Given the description of an element on the screen output the (x, y) to click on. 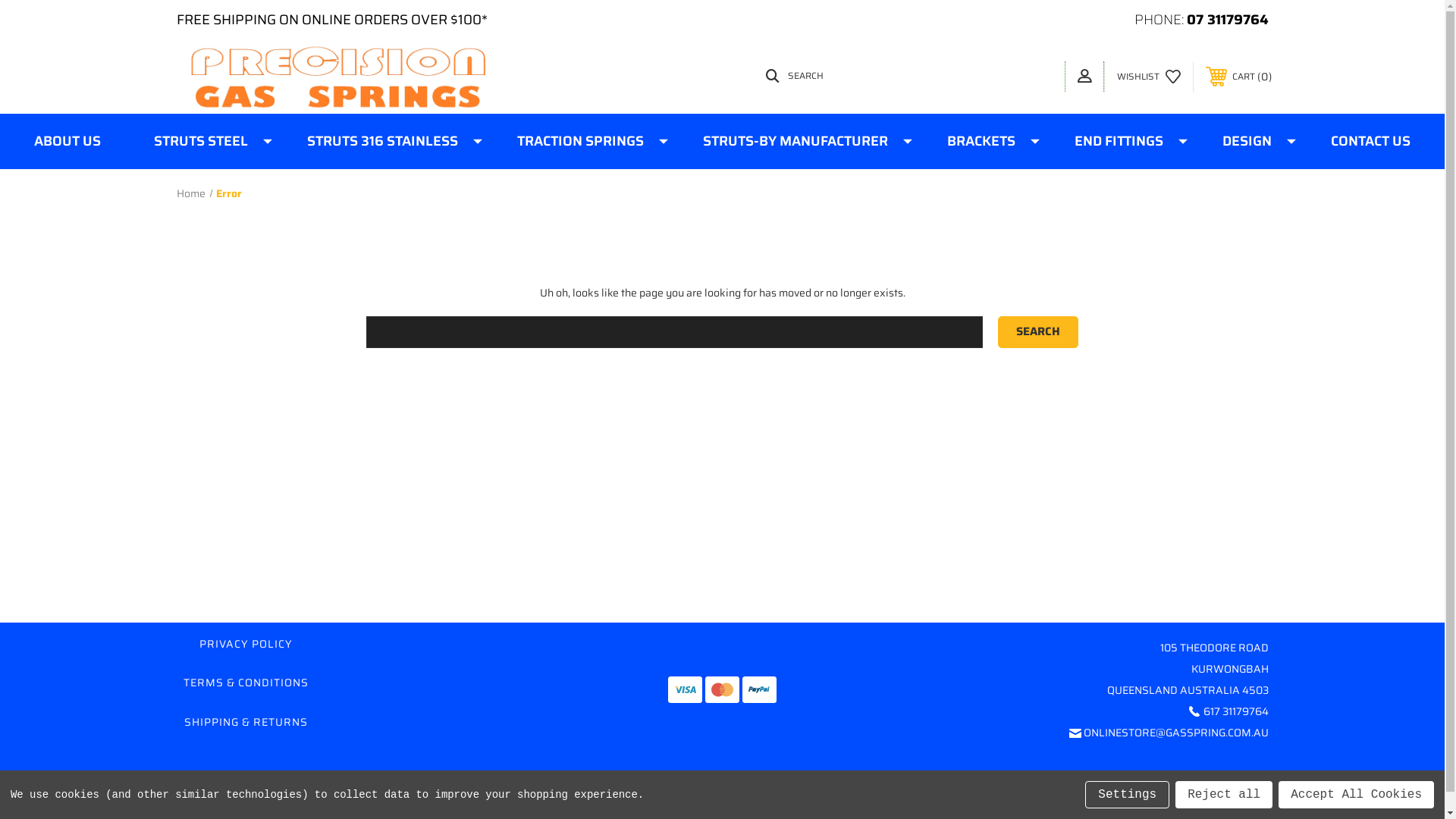
ONLINESTORE@GASSPRING.COM.AU Element type: text (1174, 732)
SEARCH Element type: text (905, 76)
617 31179764 Element type: text (1234, 710)
Home Element type: text (189, 193)
TERMS & CONDITIONS Element type: text (245, 682)
Error Element type: text (228, 193)
END FITTINGS Element type: text (1121, 141)
TRACTION SPRINGS Element type: text (583, 141)
Reject all Element type: text (1223, 794)
Accept All Cookies Element type: text (1356, 794)
Settings Element type: text (1127, 794)
CONTACT US Element type: text (1370, 141)
DESIGN Element type: text (1249, 141)
WISHLIST Element type: text (1148, 76)
Search Element type: text (1037, 332)
PRECISION GAS SPRINGS Element type: hover (339, 76)
07 31179764 Element type: text (1226, 19)
PRIVACY POLICY Element type: text (245, 643)
STRUTS-BY MANUFACTURER Element type: text (798, 141)
SHIPPING & RETURNS Element type: text (245, 721)
STRUTS 316 STAINLESS Element type: text (385, 141)
CART 0 Element type: text (1238, 76)
BRACKETS Element type: text (984, 141)
ABOUT US Element type: text (67, 141)
STRUTS STEEL Element type: text (203, 141)
